Given the description of an element on the screen output the (x, y) to click on. 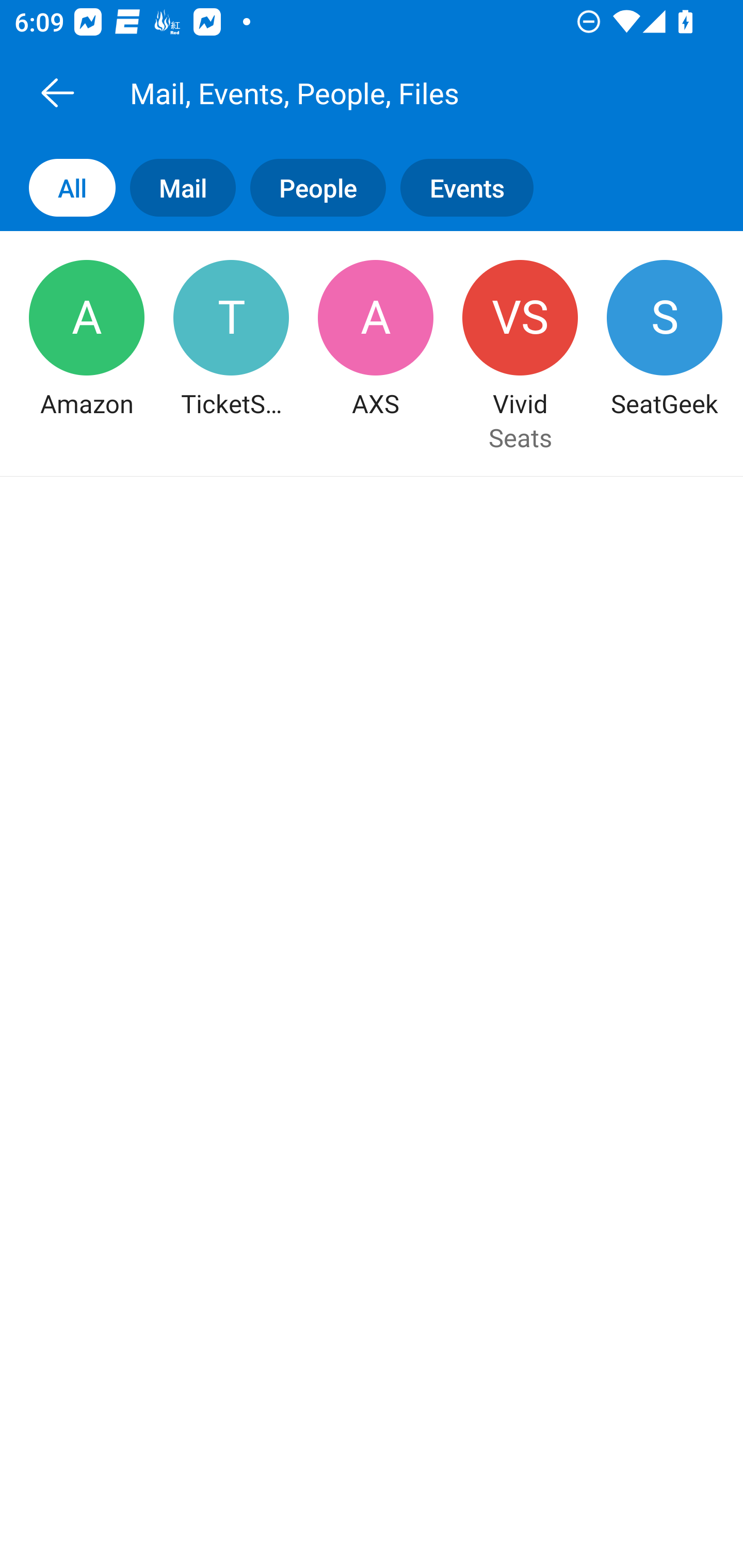
Back (57, 92)
Mail, Events, People, Files (394, 92)
Mail (175, 187)
People (310, 187)
Events (473, 187)
